Given the description of an element on the screen output the (x, y) to click on. 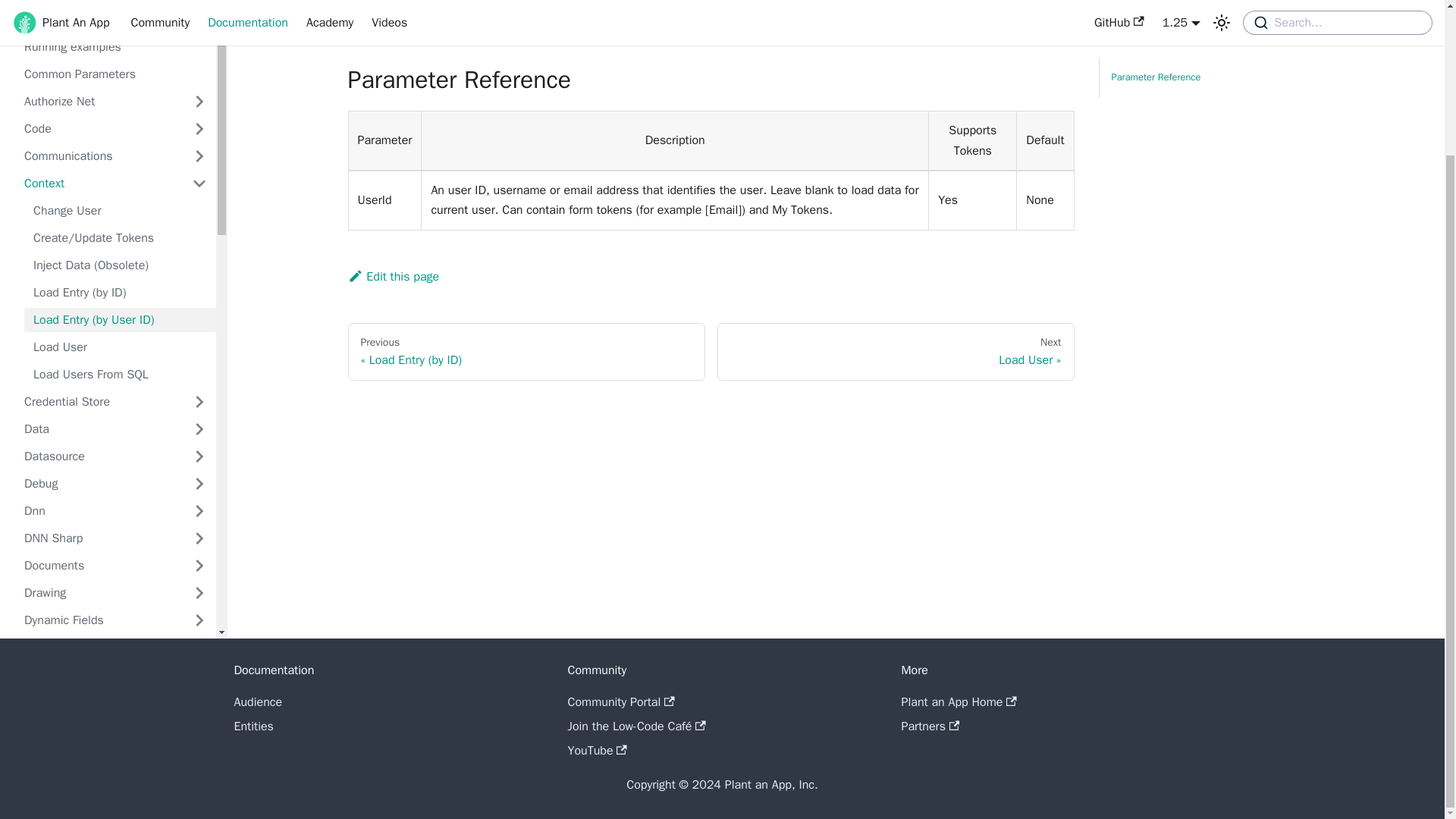
Context (98, 183)
Common Parameters (114, 74)
Communications (98, 156)
Running examples (114, 46)
Actions (94, 2)
Actions FAQ (114, 19)
Change User (119, 210)
Code (98, 128)
Authorize Net (98, 101)
